Given the description of an element on the screen output the (x, y) to click on. 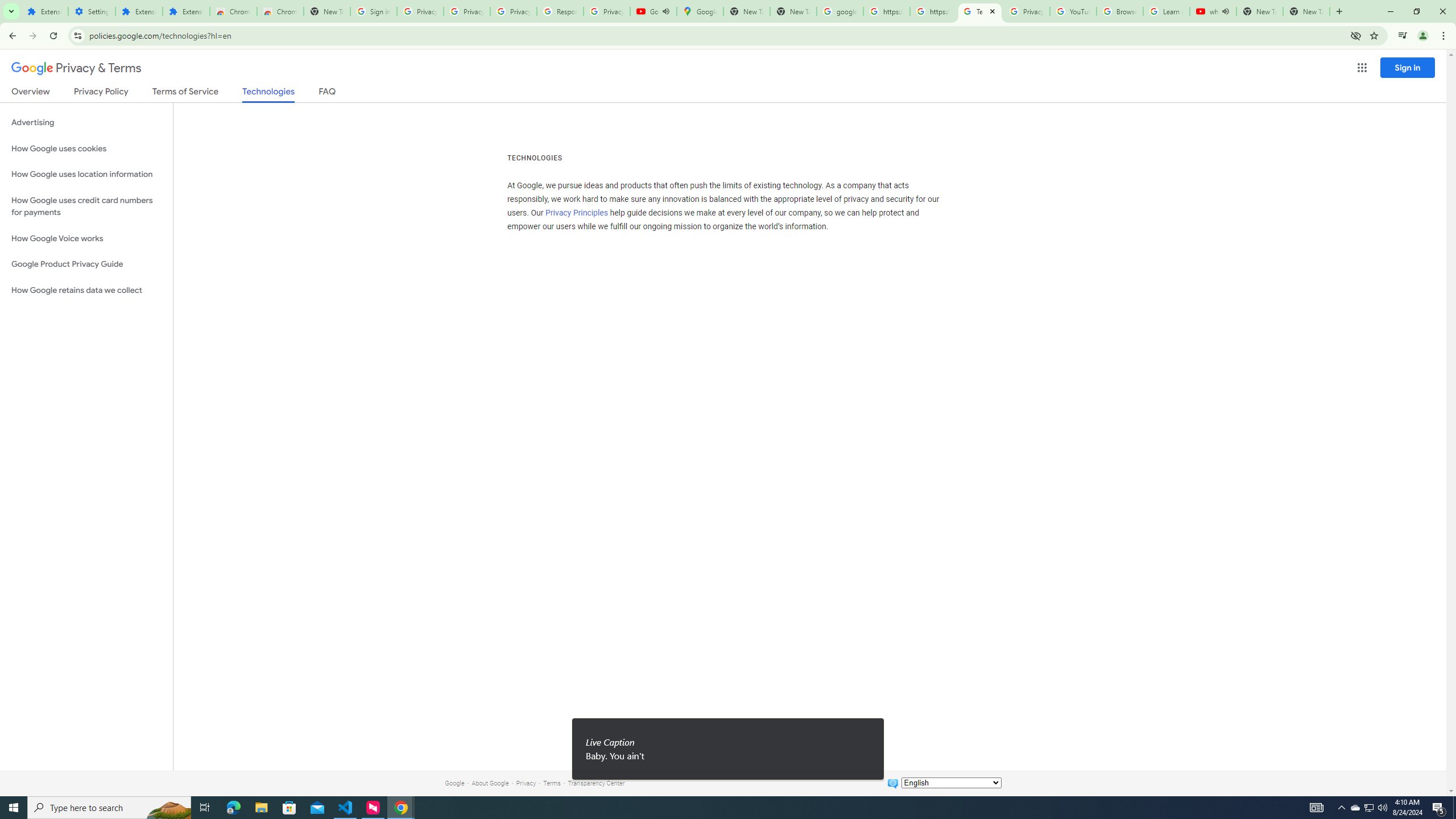
Chrome Web Store - Themes (279, 11)
How Google uses credit card numbers for payments (86, 206)
Sign in - Google Accounts (373, 11)
Settings (91, 11)
